Given the description of an element on the screen output the (x, y) to click on. 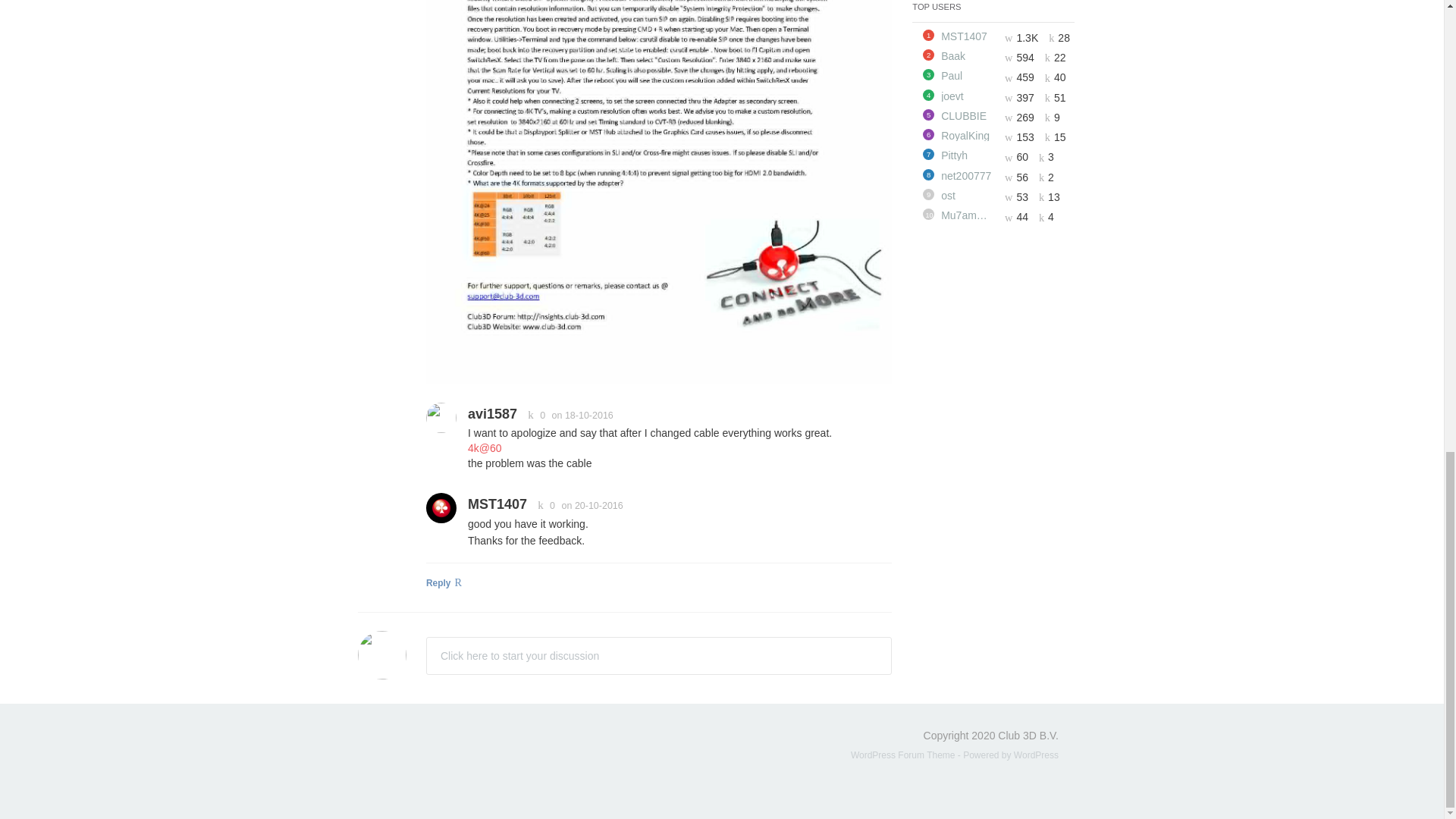
RoyalKing (967, 135)
Pittyh (967, 154)
CLUBBIE (967, 115)
joevt (967, 95)
ost (967, 195)
0 (533, 415)
Reply (658, 585)
Mu7ammad (967, 214)
net200777 (967, 175)
Paul (967, 75)
